Given the description of an element on the screen output the (x, y) to click on. 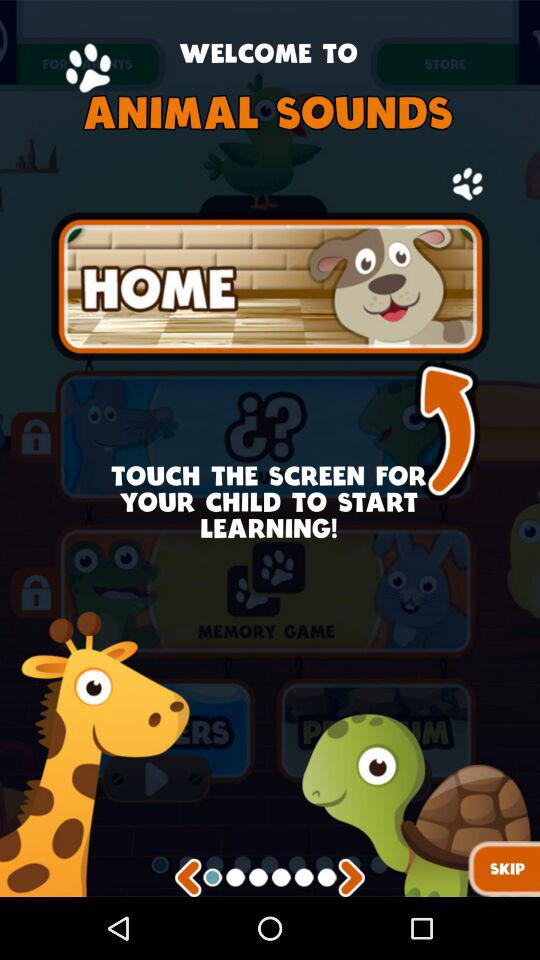
click on right arrow to the left of skip at the bottom of the web page (352, 877)
